Given the description of an element on the screen output the (x, y) to click on. 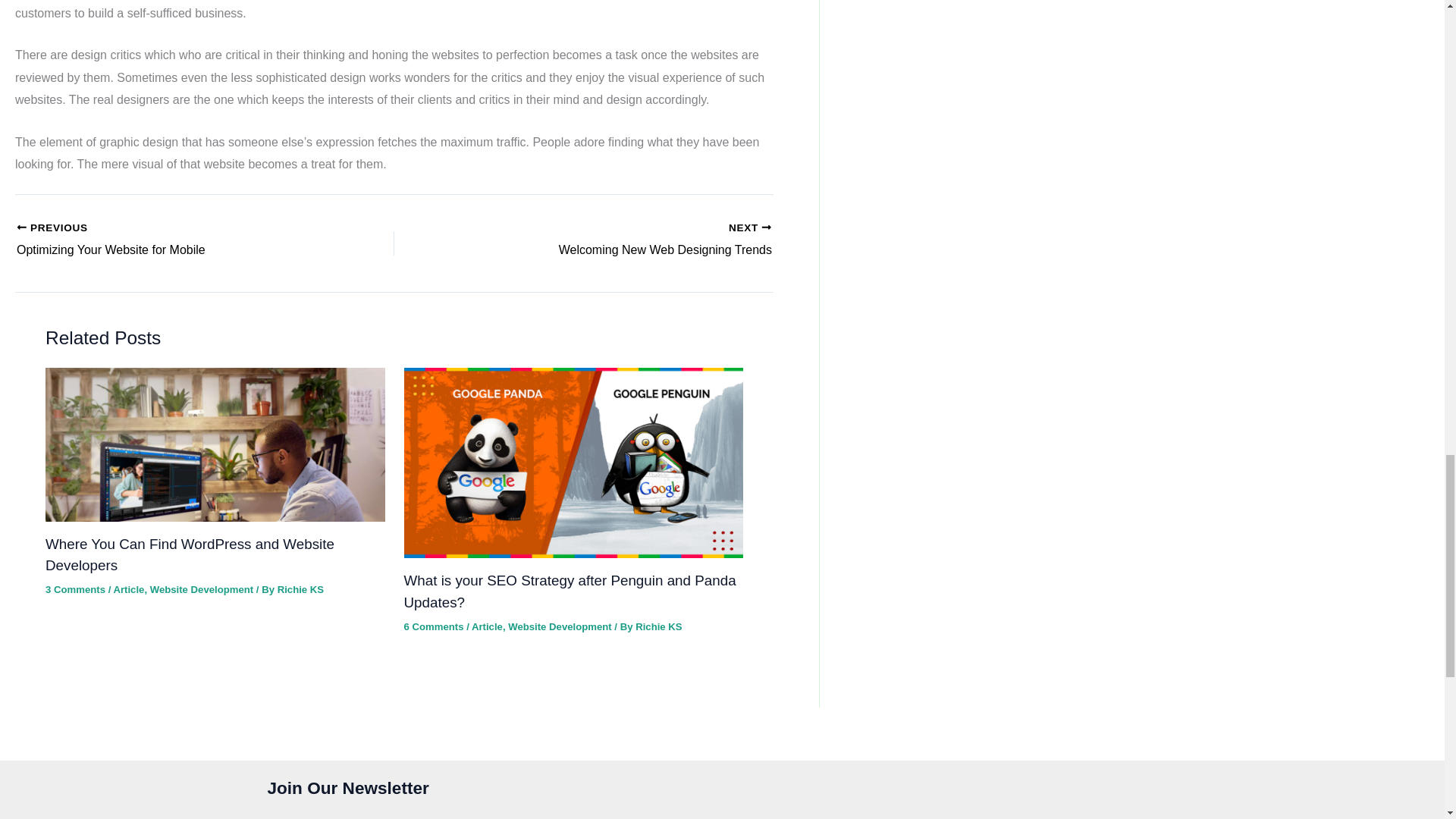
3 Comments (74, 589)
Where You Can Find WordPress and Website Developers (189, 554)
View all posts by Richie KS (657, 626)
View all posts by Richie KS (300, 589)
Richie KS (300, 589)
Optimizing Your Website for Mobile (168, 240)
Website Development (168, 240)
Article (201, 589)
What is your SEO Strategy after Penguin and Panda Updates? (619, 240)
Welcoming New Web Designing Trends (128, 589)
